Given the description of an element on the screen output the (x, y) to click on. 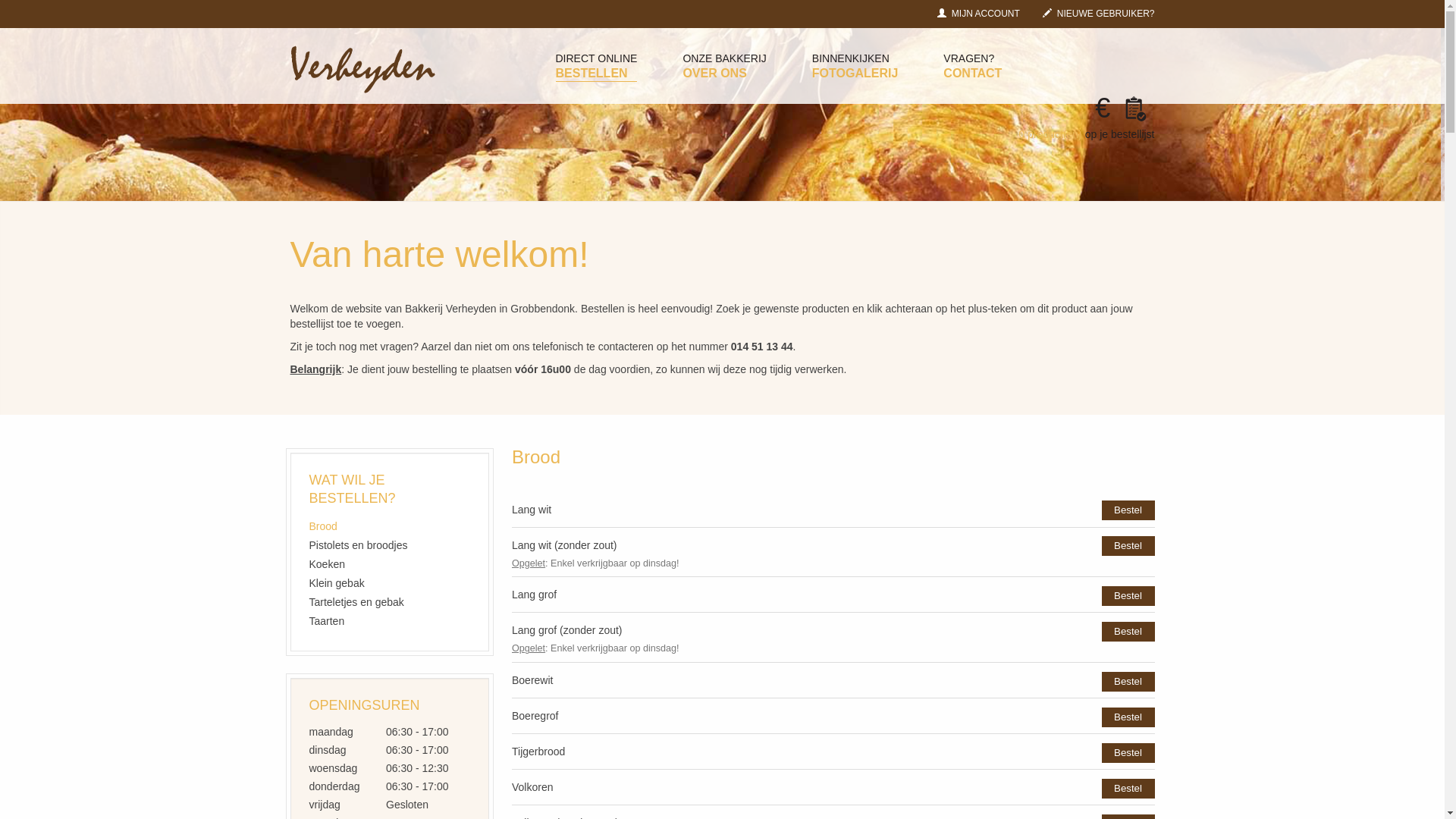
BINNENKIJKEN
FOTOGALERIJ Element type: text (855, 65)
Bestel Element type: text (1127, 752)
Bestel Element type: text (1127, 788)
Klein gebak Element type: text (389, 580)
NIEUWE GEBRUIKER? Element type: text (1098, 13)
ONZE BAKKERIJ
OVER ONS Element type: text (723, 65)
0 product(en) op je bestellijst Element type: text (1086, 120)
MIJN ACCOUNT Element type: text (978, 13)
Bestel Element type: text (1127, 631)
Koeken Element type: text (389, 561)
Bestel Element type: text (1127, 681)
Bestel Element type: text (1127, 717)
Bestel Element type: text (1127, 510)
Tarteletjes en gebak Element type: text (389, 599)
VRAGEN?
CONTACT Element type: text (972, 65)
Bestel Element type: text (1127, 545)
Pistolets en broodjes Element type: text (389, 542)
DIRECT ONLINE
BESTELLEN Element type: text (595, 66)
Brood Element type: text (389, 523)
Taarten Element type: text (389, 618)
Bestel Element type: text (1127, 595)
